Given the description of an element on the screen output the (x, y) to click on. 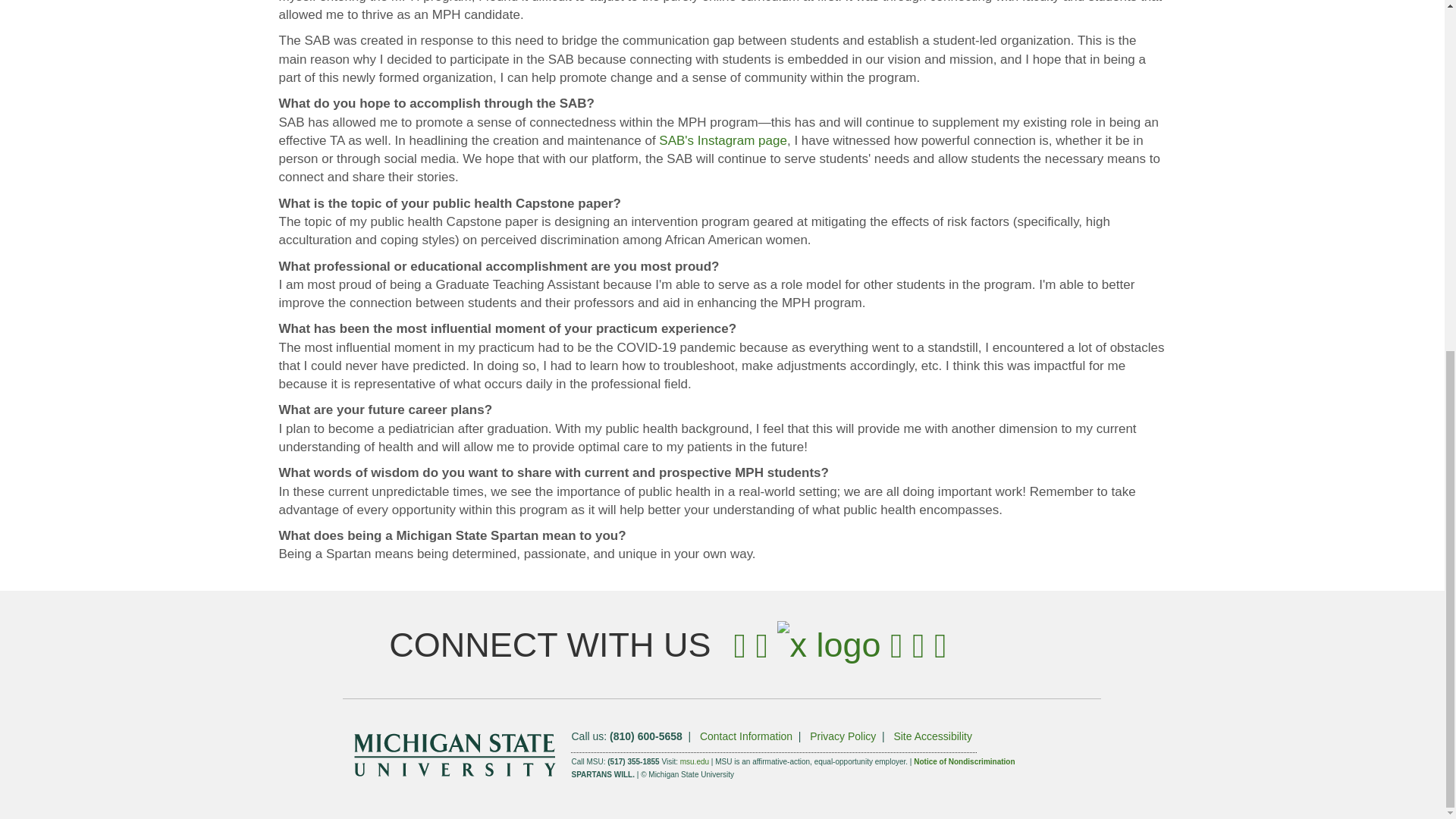
click to view (694, 761)
click to view (842, 736)
click to contact (746, 736)
click to view (932, 736)
go to X (828, 645)
click to view (964, 761)
